Given the description of an element on the screen output the (x, y) to click on. 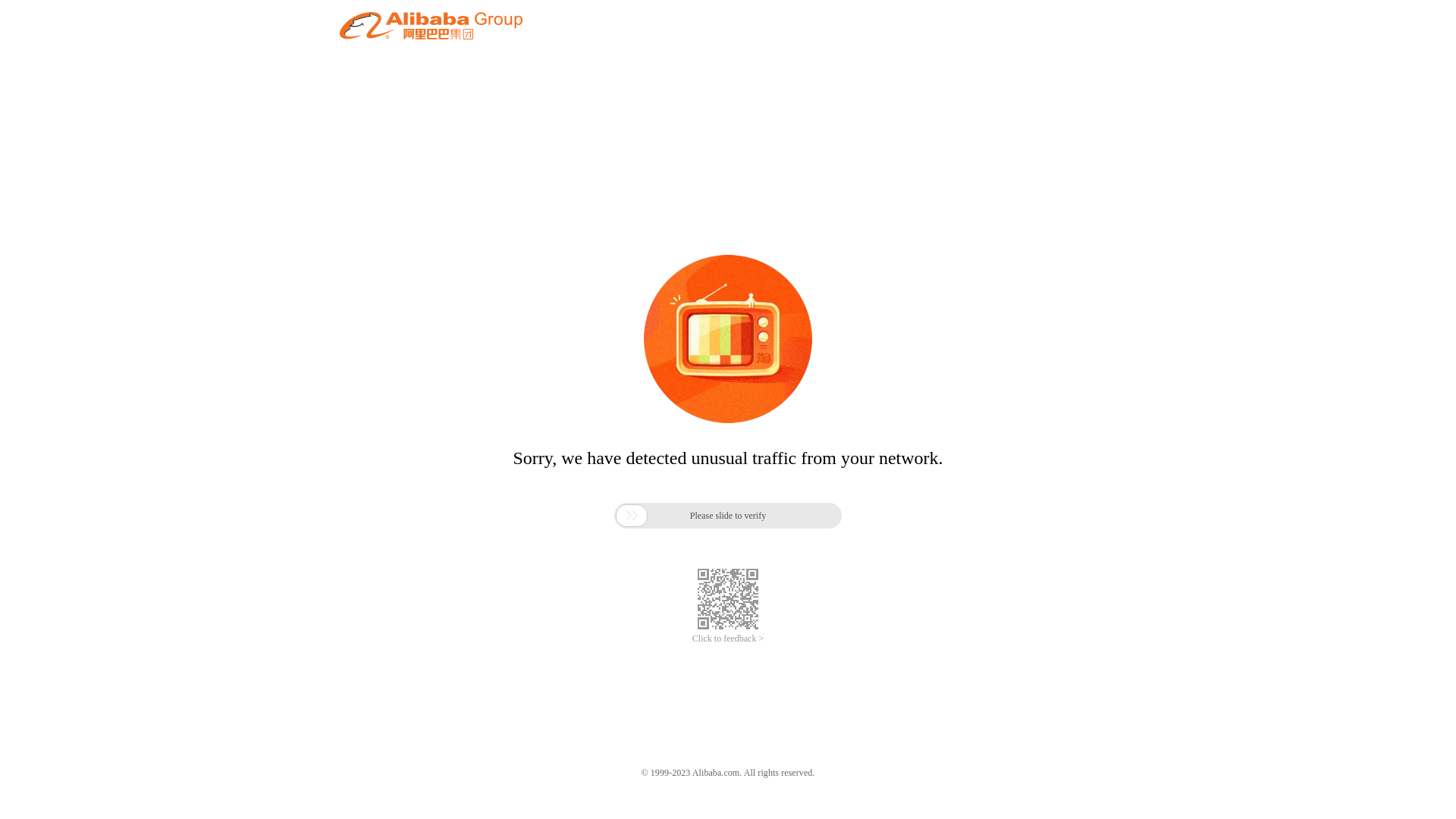
Click to feedback > Element type: text (727, 638)
